Given the description of an element on the screen output the (x, y) to click on. 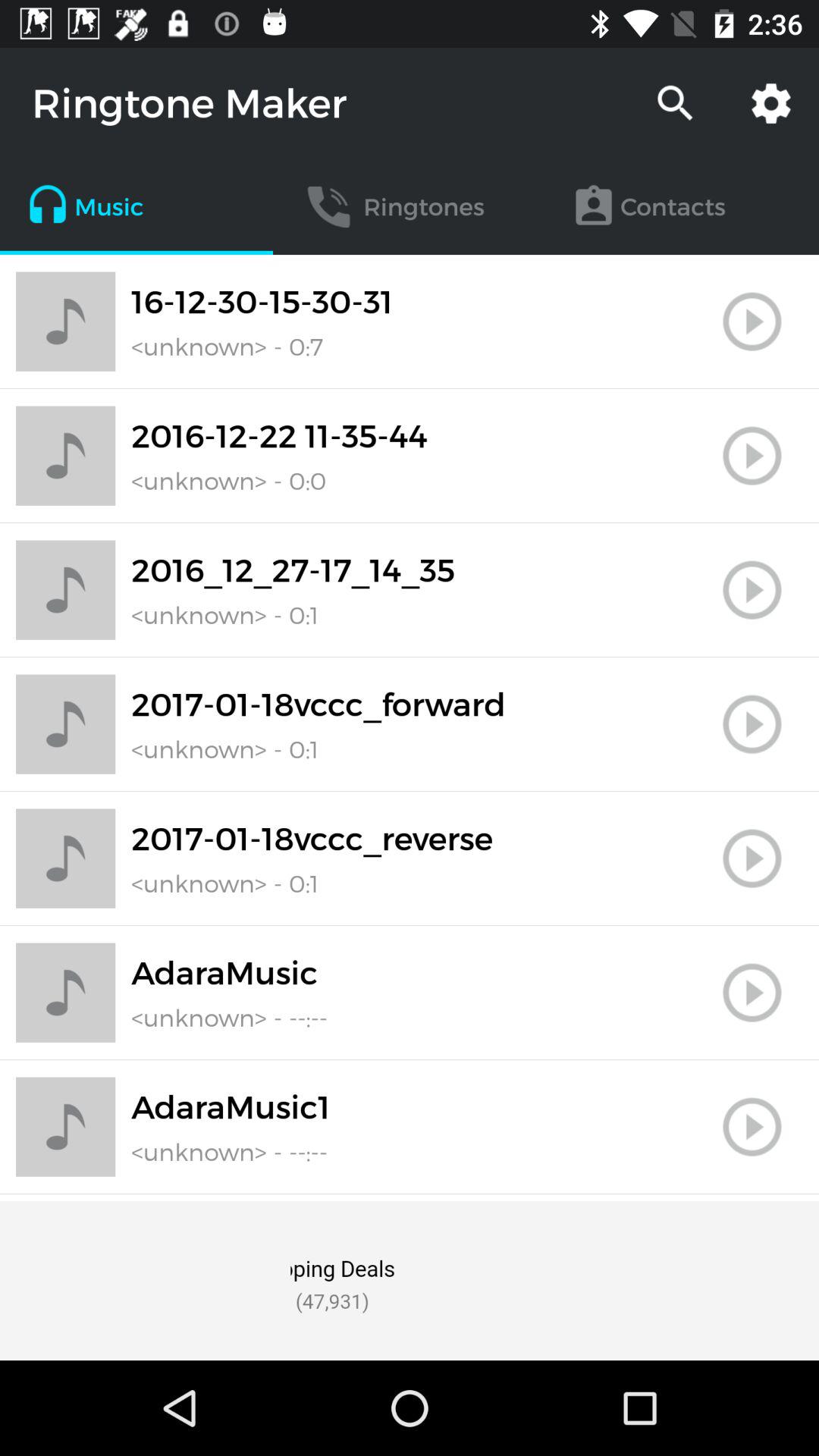
song play option (752, 724)
